Given the description of an element on the screen output the (x, y) to click on. 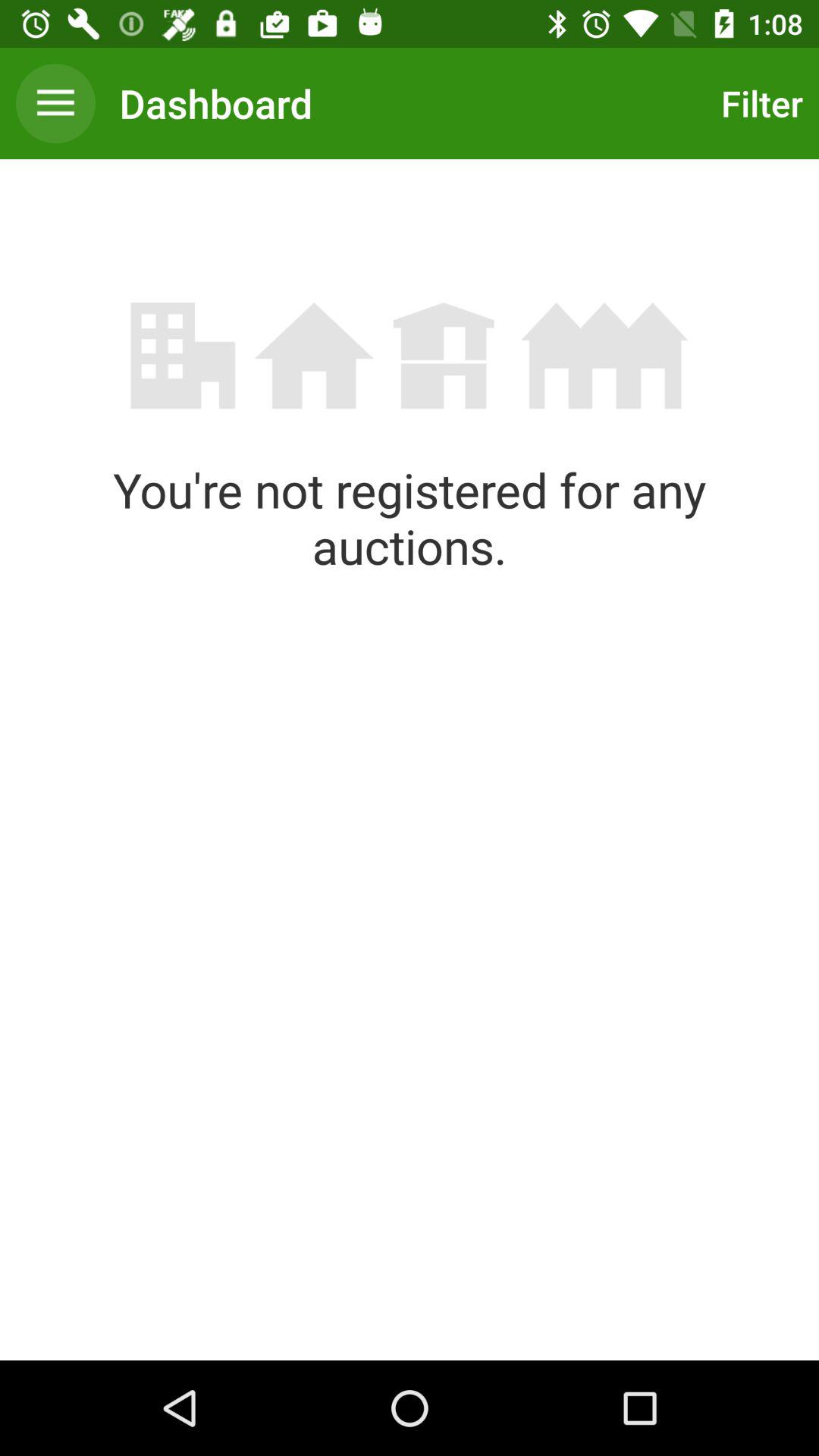
tap item above the you re not icon (758, 103)
